Given the description of an element on the screen output the (x, y) to click on. 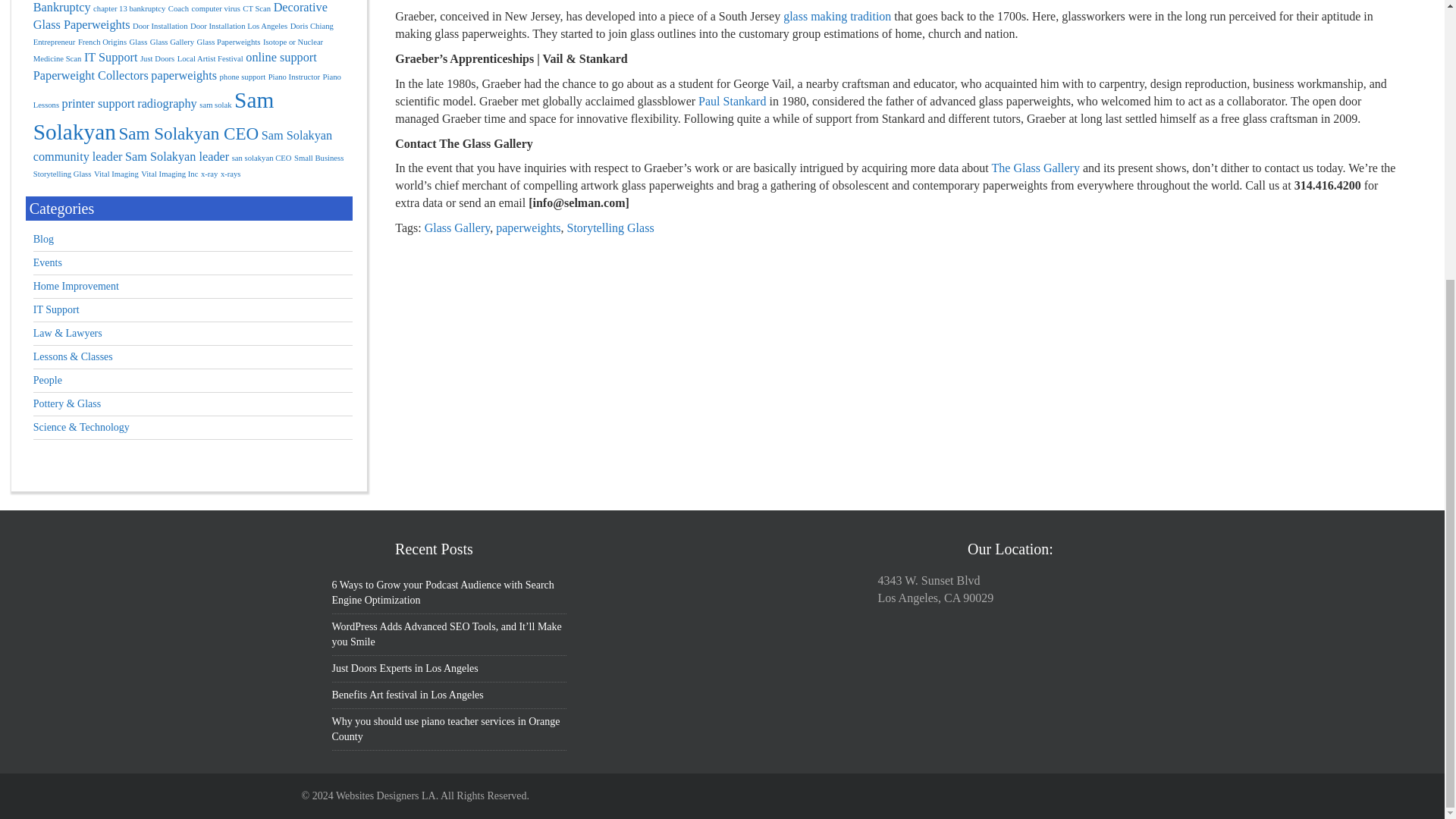
glass making tradition (837, 15)
Glass Gallery (457, 227)
Paul Stankard (731, 101)
Storytelling Glass (610, 227)
paperweights (528, 227)
The Glass Gallery (1035, 167)
